Given the description of an element on the screen output the (x, y) to click on. 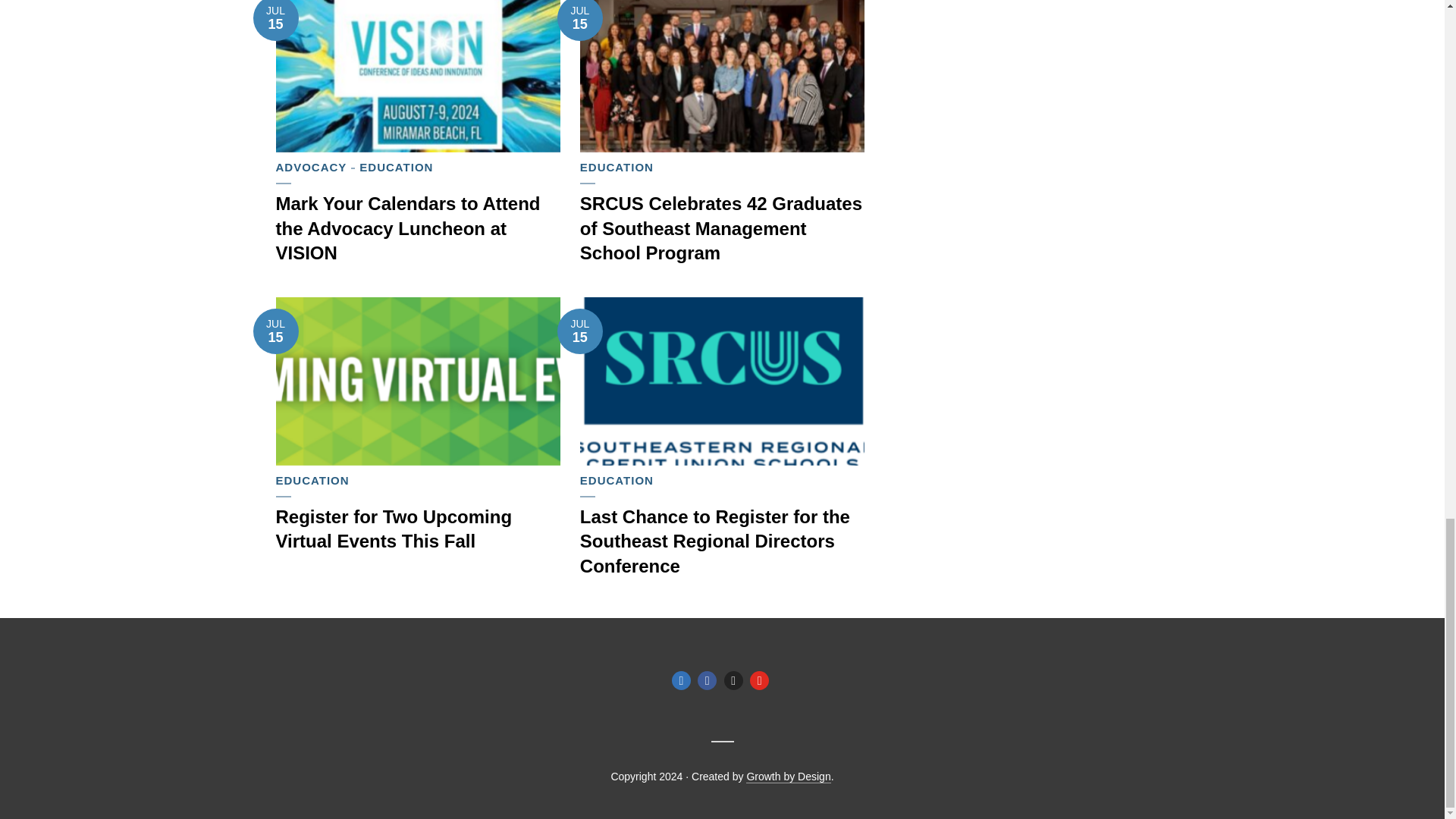
Facebook (706, 680)
Linkedin (680, 680)
YouTube (758, 680)
